Given the description of an element on the screen output the (x, y) to click on. 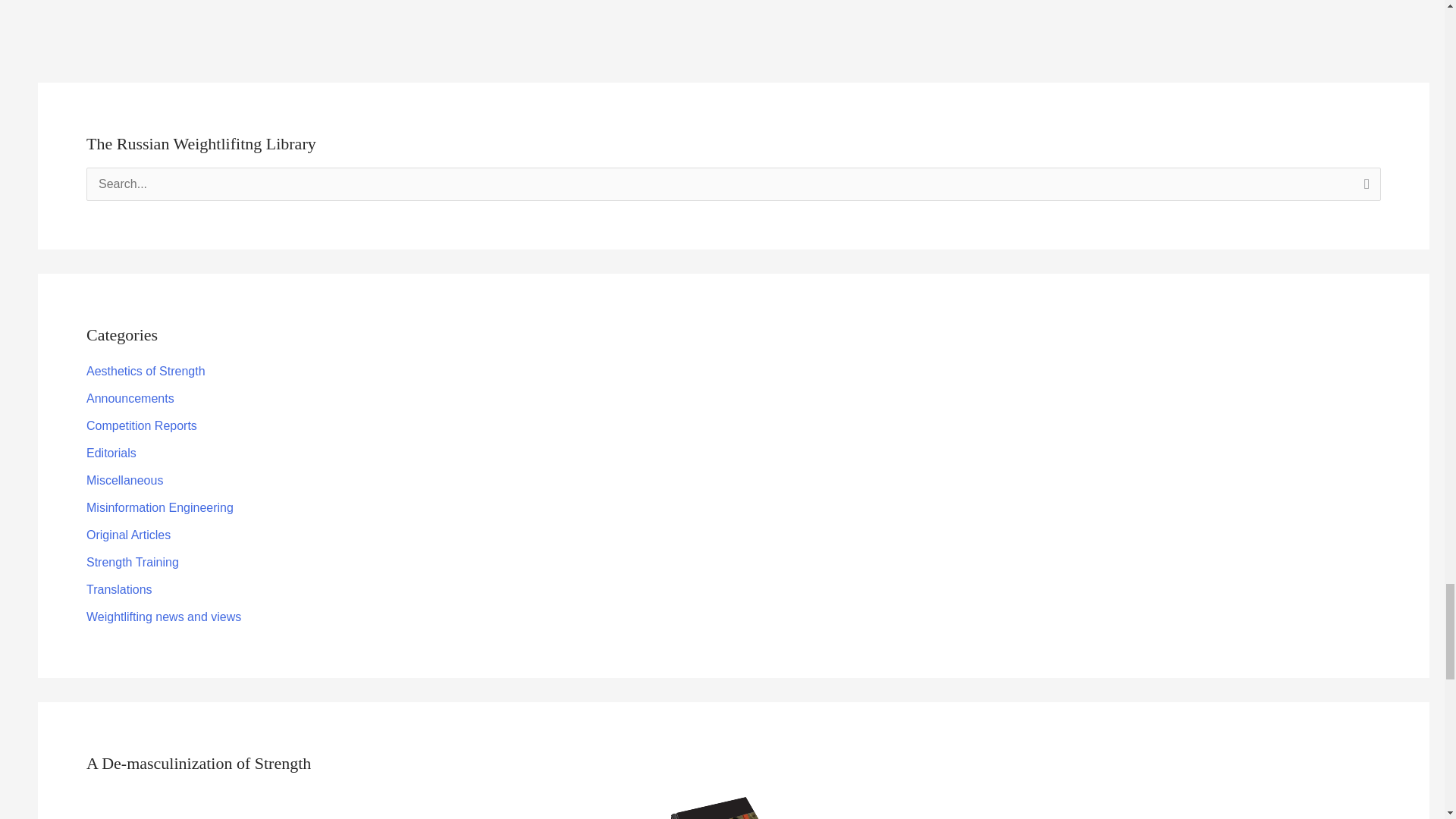
Competition Reports (140, 425)
Misinformation Engineering (158, 507)
Aesthetics of Strength (145, 370)
Miscellaneous (124, 480)
Strength Training (132, 562)
Announcements (129, 398)
Translations (118, 589)
Editorials (110, 452)
Weightlifting news and views (163, 616)
Original Articles (127, 534)
